Given the description of an element on the screen output the (x, y) to click on. 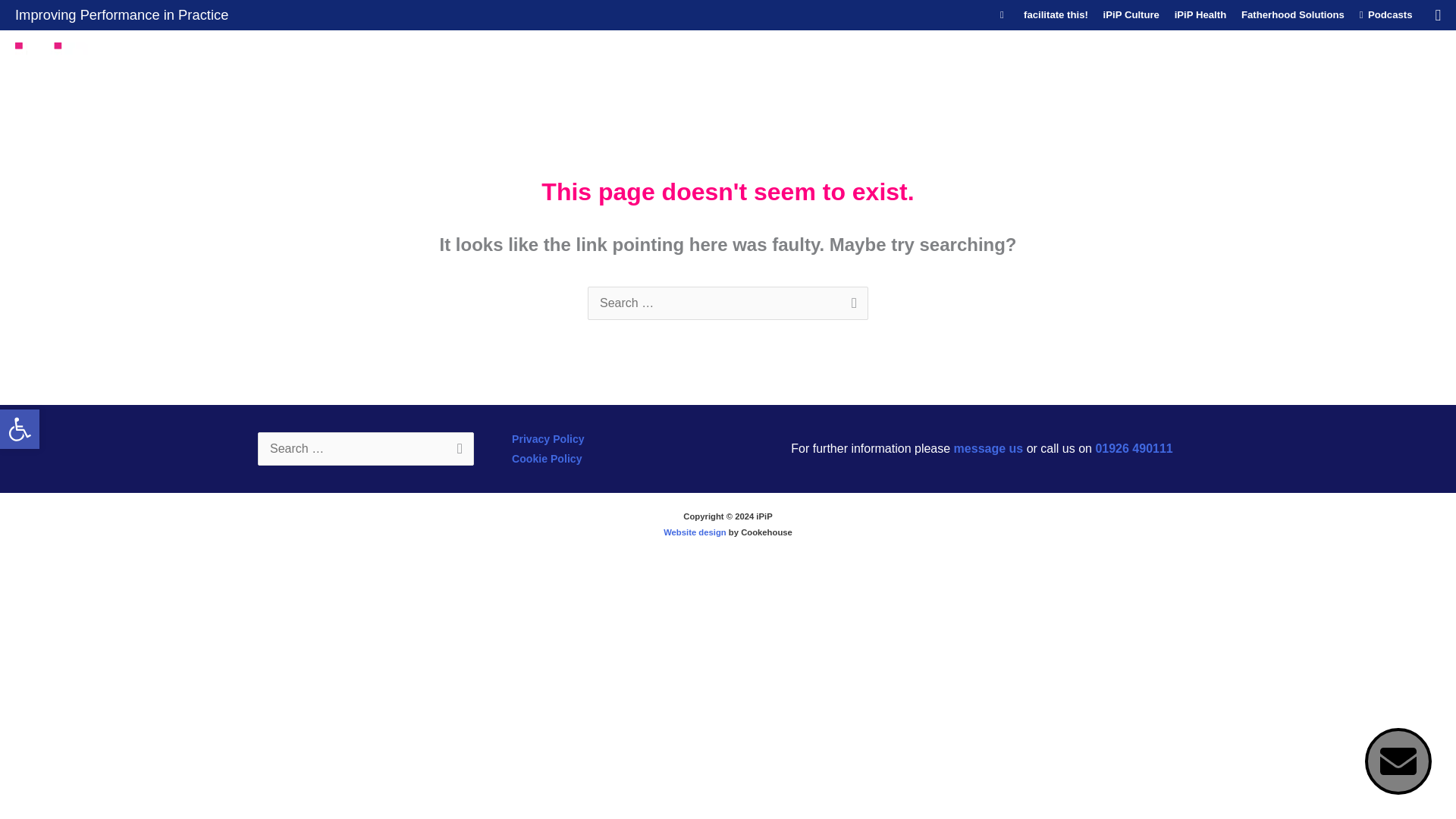
Accessibility Tools (19, 428)
iPiP Culture (1131, 15)
facilitate this! (1056, 15)
Improving Performance in Practice (121, 14)
Accessibility Tools (19, 428)
Podcasts (1386, 15)
Our Services (1168, 59)
Contact Us (1401, 59)
About iPiP (1254, 59)
Fatherhood Solutions (1292, 15)
